Given the description of an element on the screen output the (x, y) to click on. 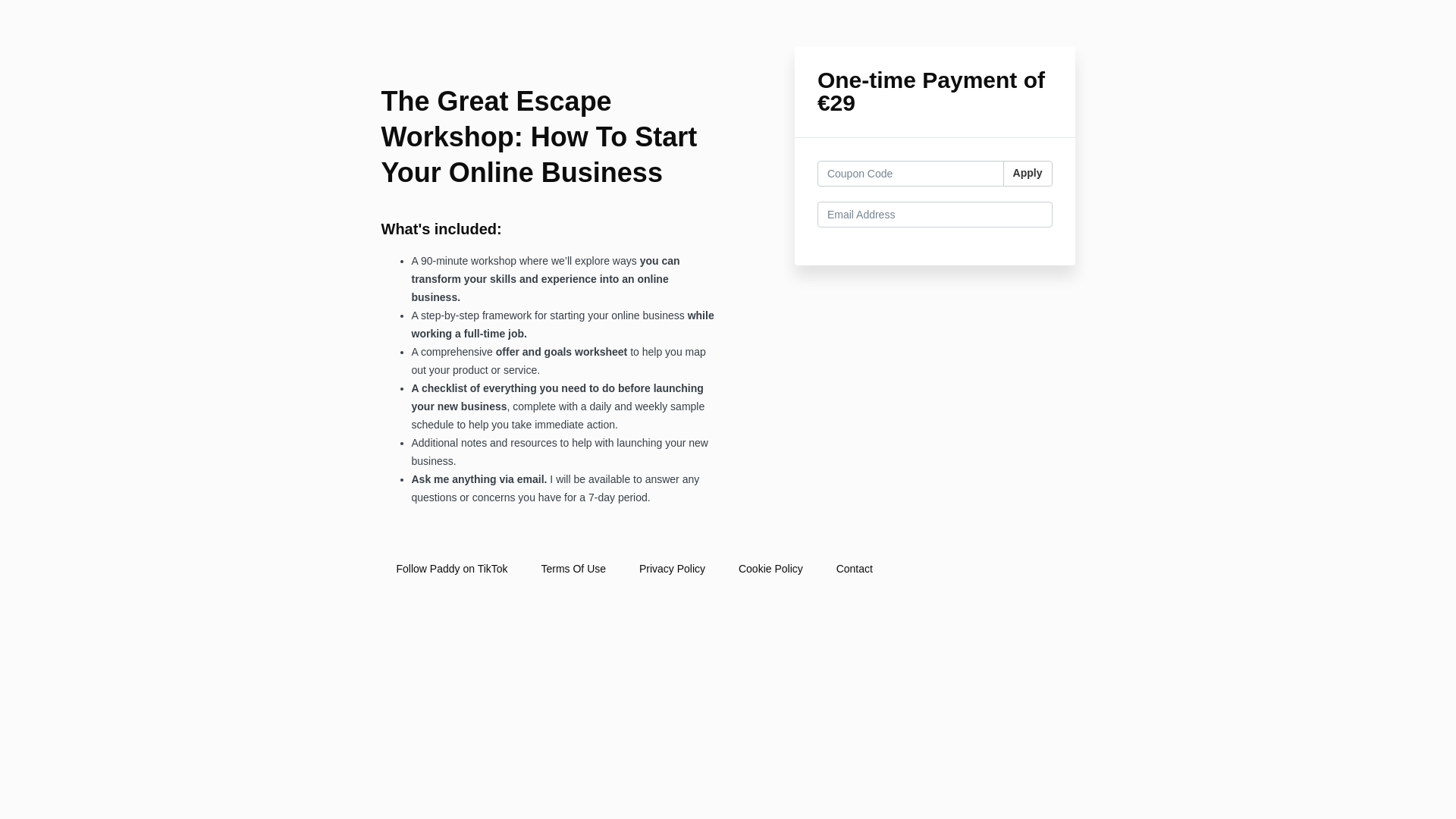
Privacy Policy (672, 569)
Follow Paddy on TikTok (451, 569)
Contact (854, 569)
Terms Of Use (573, 569)
Cookie Policy (770, 569)
Apply (1027, 173)
